Given the description of an element on the screen output the (x, y) to click on. 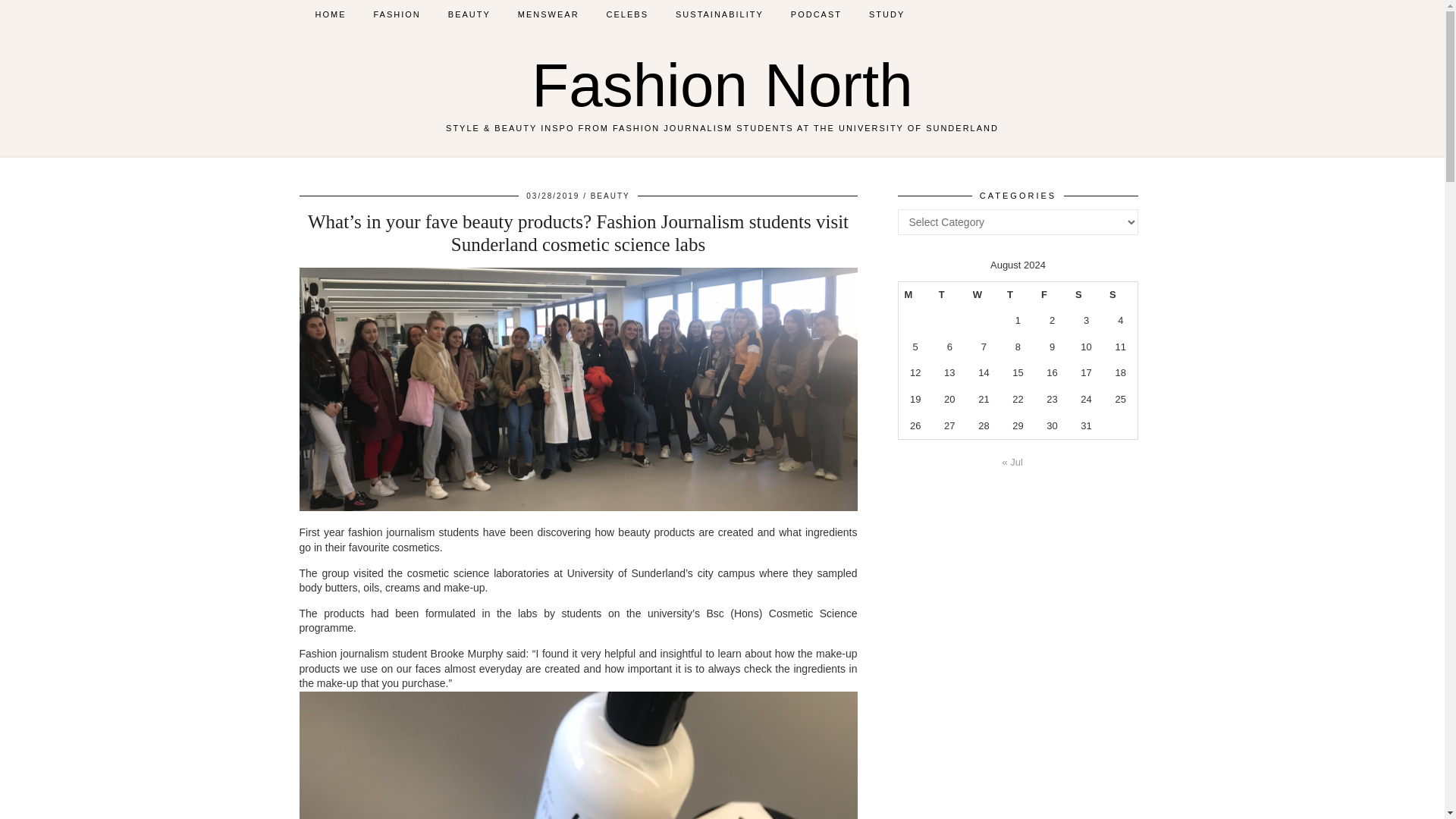
Fashion North (721, 84)
BEAUTY (468, 14)
STUDY (887, 14)
MENSWEAR (547, 14)
CELEBS (627, 14)
FASHION (396, 14)
SUSTAINABILITY (719, 14)
HOME (330, 14)
PODCAST (816, 14)
